Given the description of an element on the screen output the (x, y) to click on. 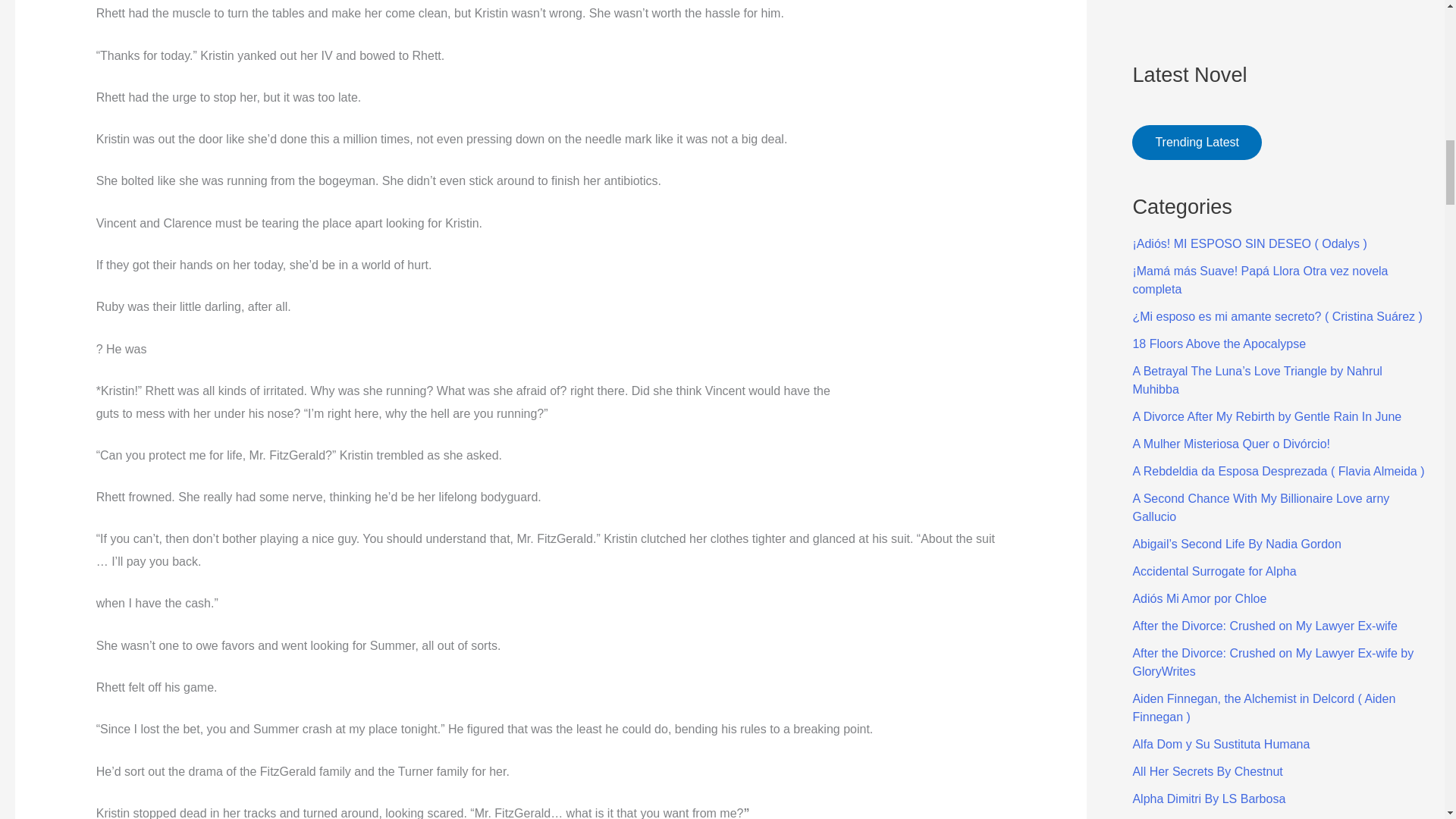
Advertisement (1280, 13)
